Given the description of an element on the screen output the (x, y) to click on. 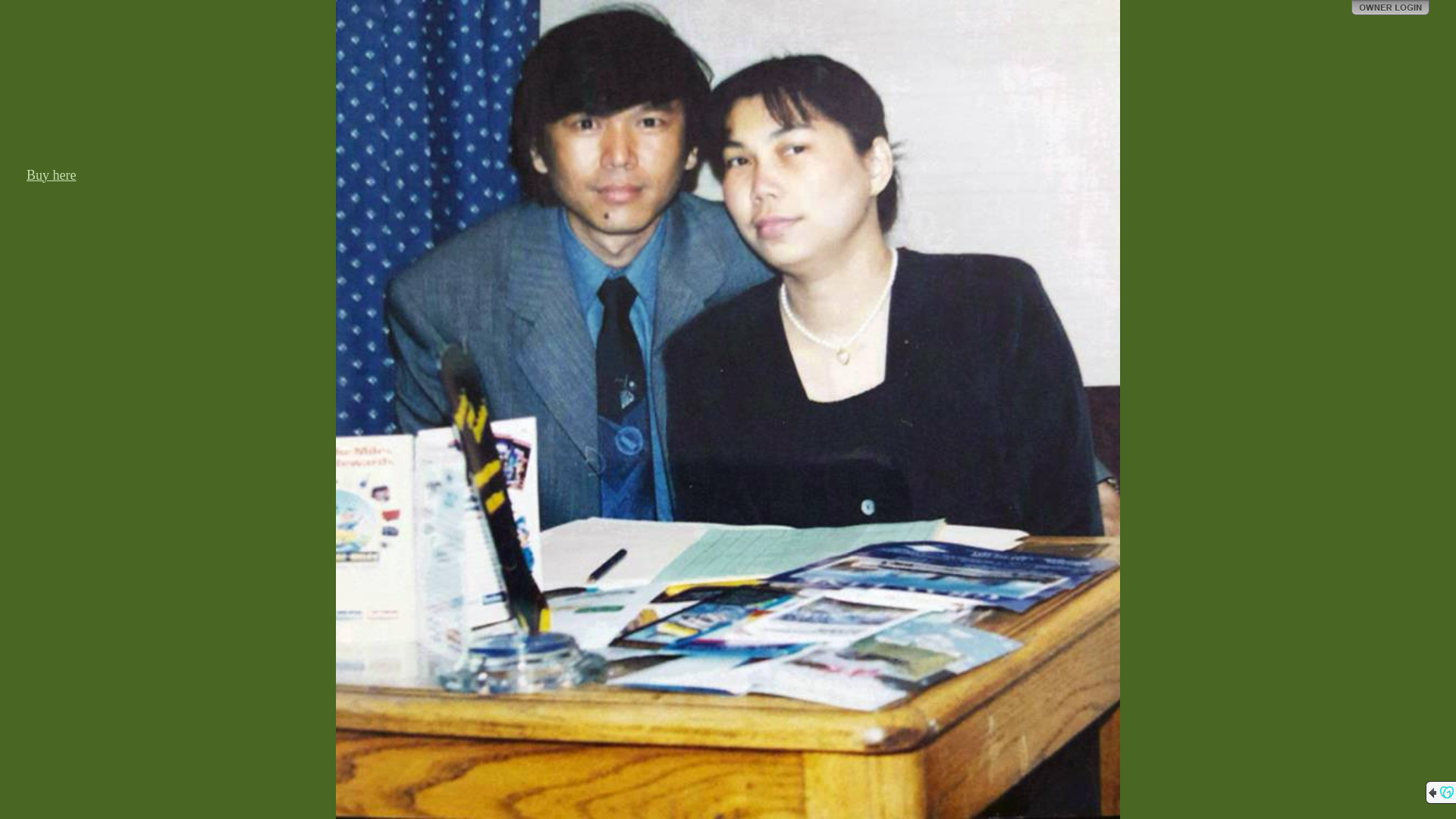
Buy here Element type: text (50, 174)
